Given the description of an element on the screen output the (x, y) to click on. 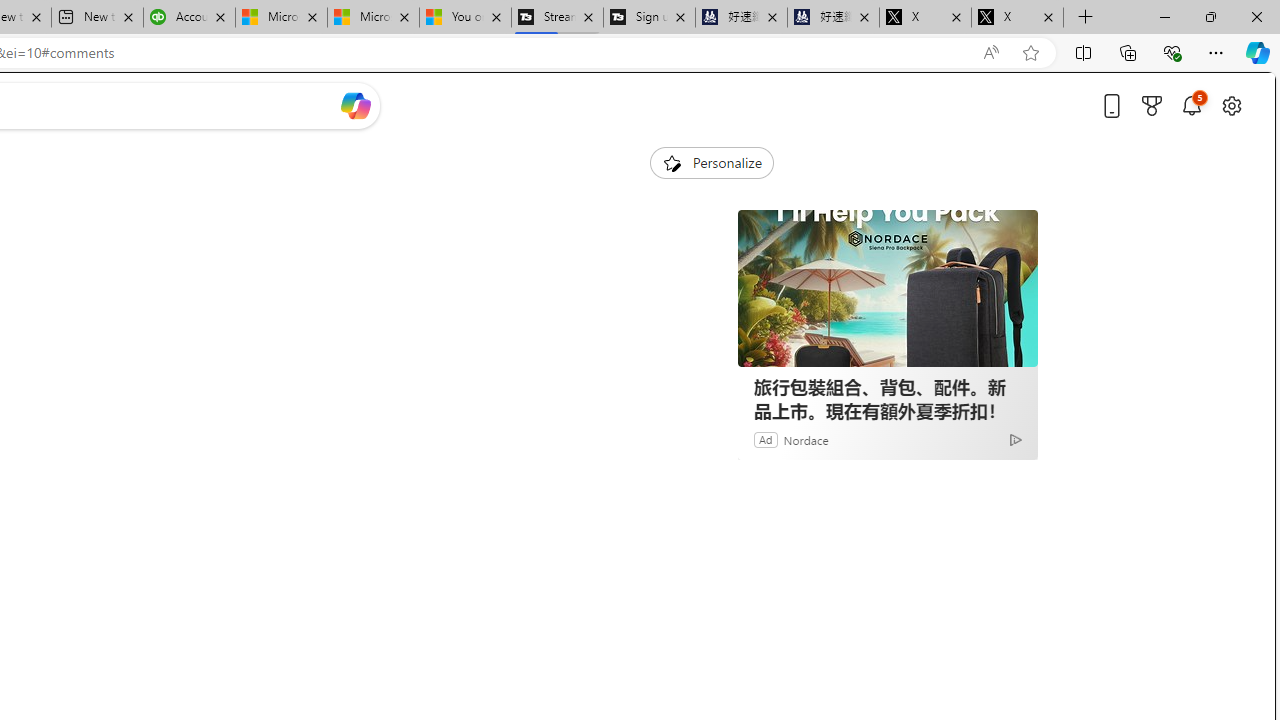
Open Copilot (355, 105)
Streaming Coverage | T3 (557, 17)
